Given the description of an element on the screen output the (x, y) to click on. 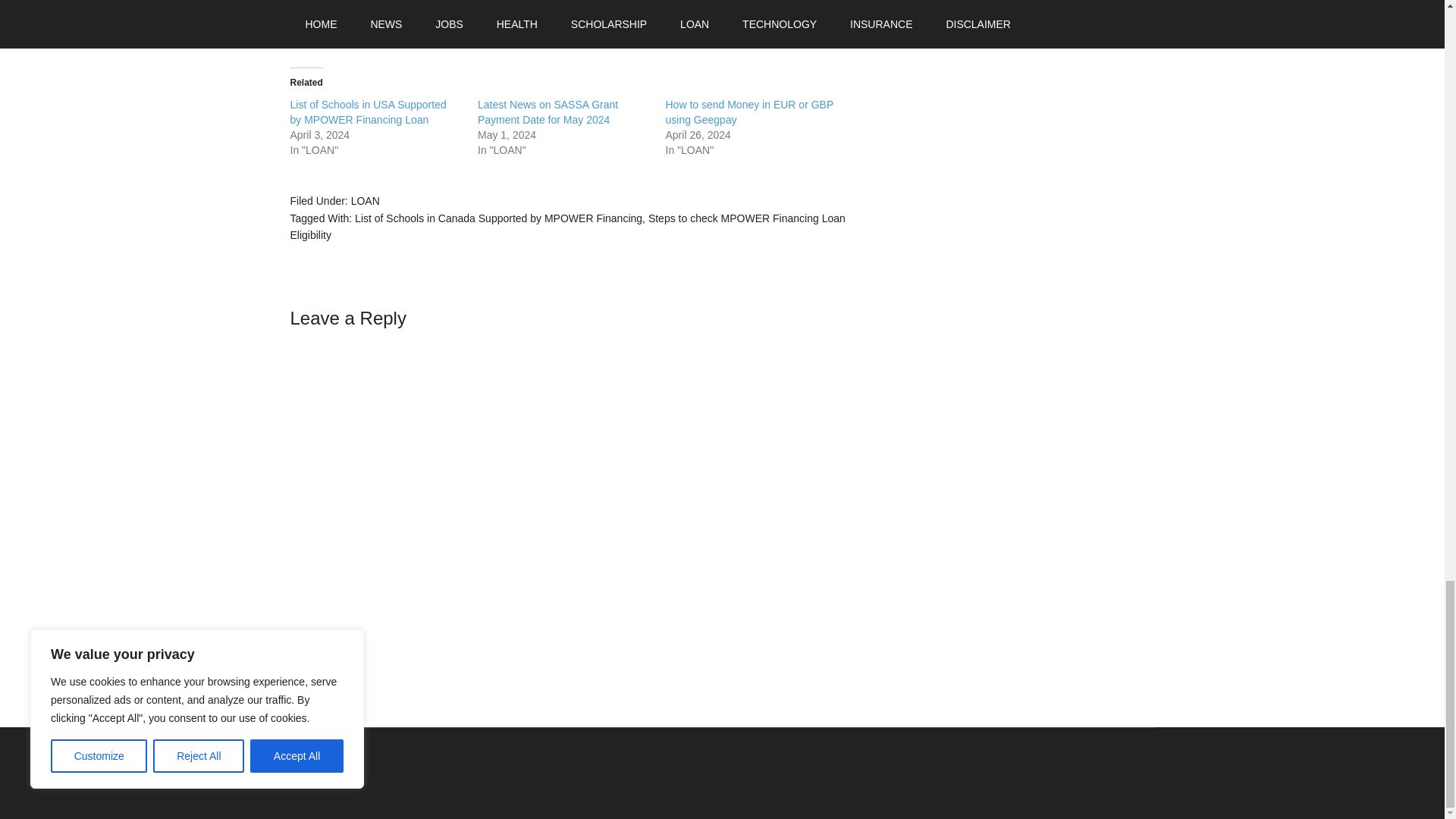
Latest News on SASSA Grant Payment Date for May 2024 (547, 112)
List of Schools in USA Supported by MPOWER Financing Loan (367, 112)
How to send Money in EUR or GBP using Geegpay (749, 112)
